Given the description of an element on the screen output the (x, y) to click on. 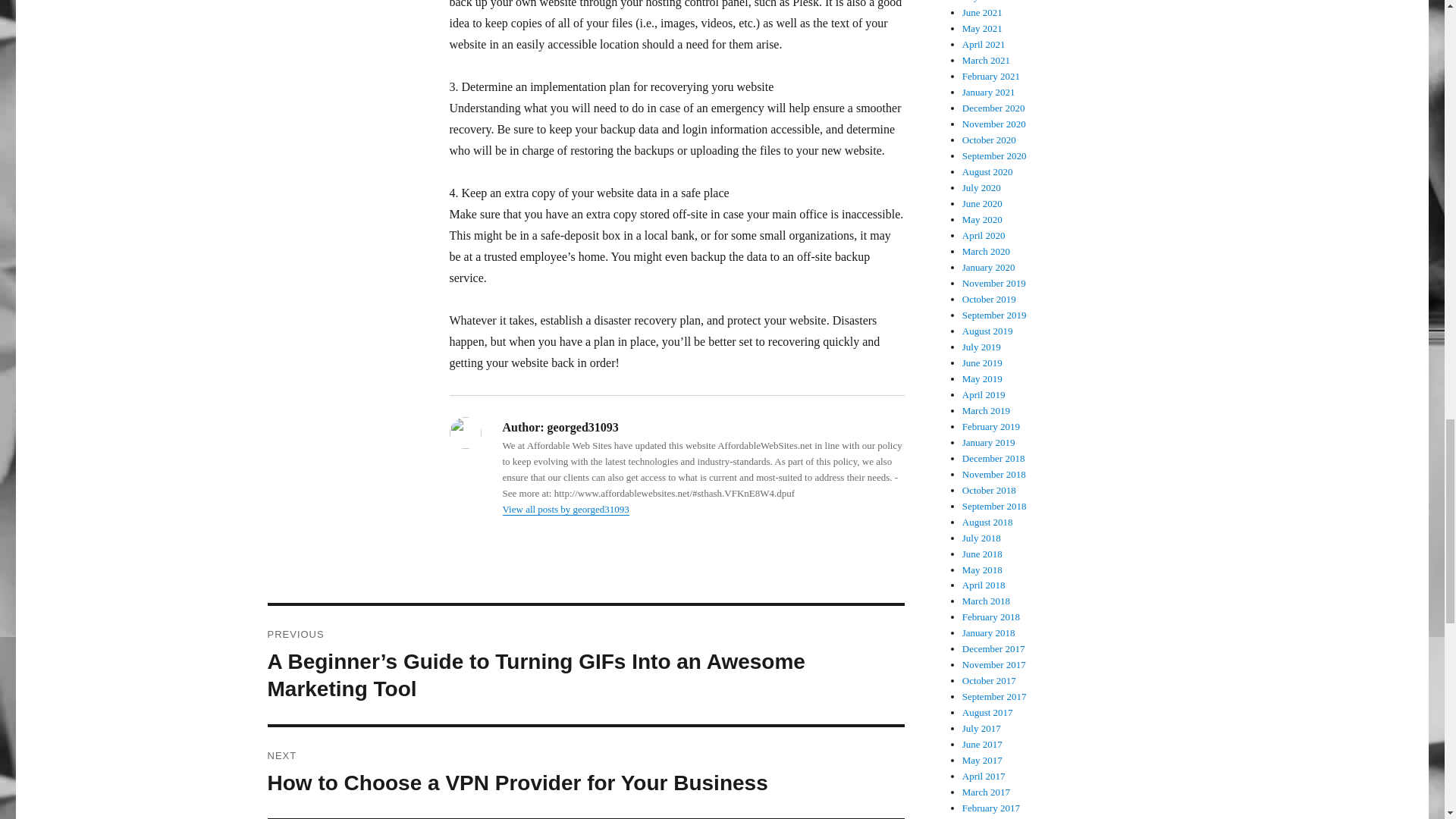
View all posts by georged31093 (565, 509)
